Given the description of an element on the screen output the (x, y) to click on. 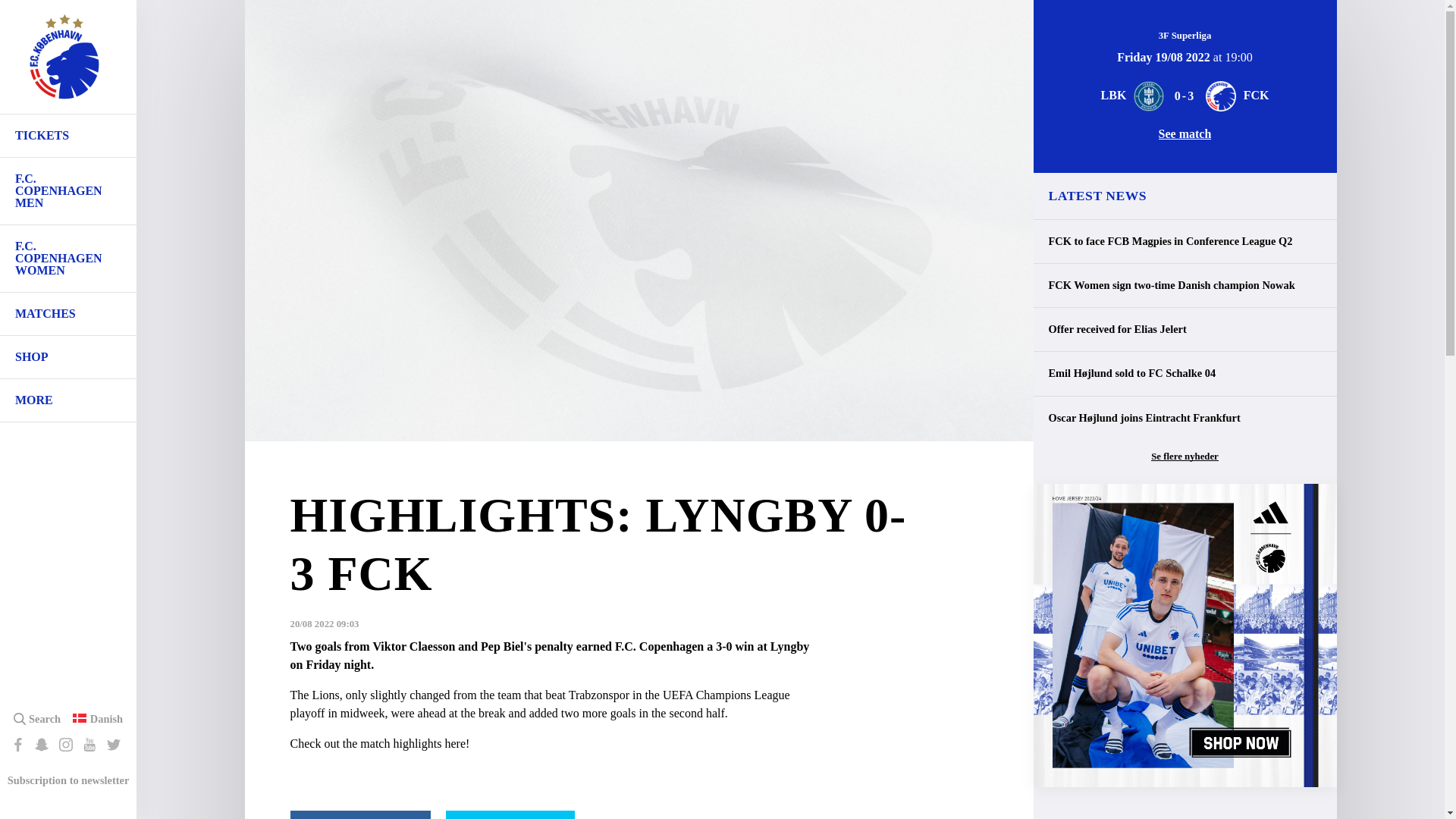
Share on twitter (510, 814)
Subscription to newsletter (68, 780)
MORE (68, 400)
TICKETS (68, 135)
Danish (106, 718)
SHOP (68, 356)
MATCHES (68, 313)
F.C. COPENHAGEN WOMEN (68, 258)
F.C. COPENHAGEN MEN (68, 191)
Share on facebook (359, 814)
First team matches (68, 313)
F.C. Copenhagen Women (68, 258)
See match (1184, 132)
Tickets (68, 135)
